Given the description of an element on the screen output the (x, y) to click on. 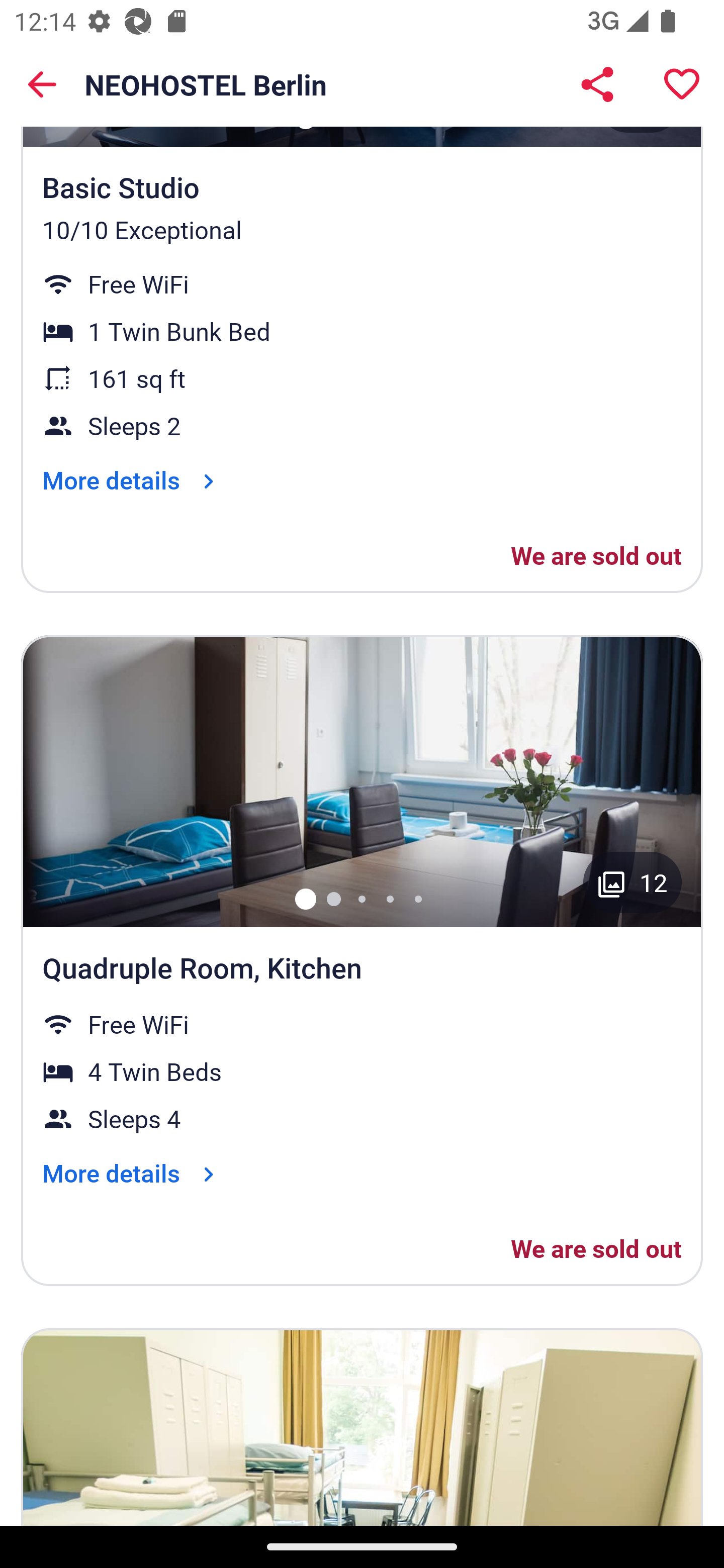
Back (42, 84)
Save property to a trip (681, 84)
Share NEOHOSTEL Berlin (597, 84)
Free WiFi, bed sheets (361, 780)
Gallery button with 12 images (632, 882)
Free WiFi, bed sheets (361, 1426)
